Given the description of an element on the screen output the (x, y) to click on. 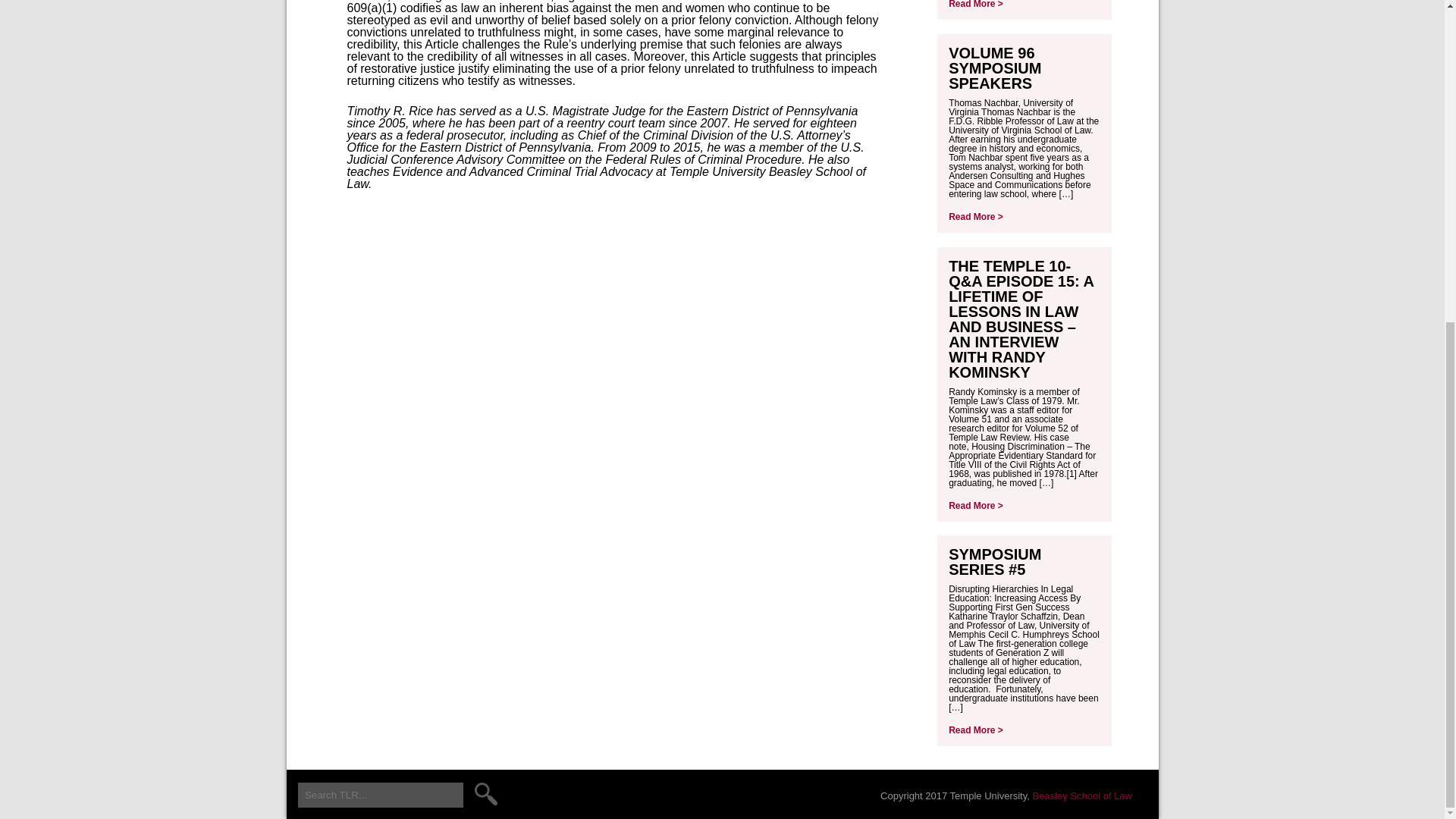
search (488, 793)
Link to Volume 96 Symposium Speakers (995, 68)
Beasley School of Law (1082, 795)
Link to Volume 96 Symposium Speakers (976, 216)
search (488, 793)
VOLUME 96 SYMPOSIUM SPEAKERS (995, 68)
